Given the description of an element on the screen output the (x, y) to click on. 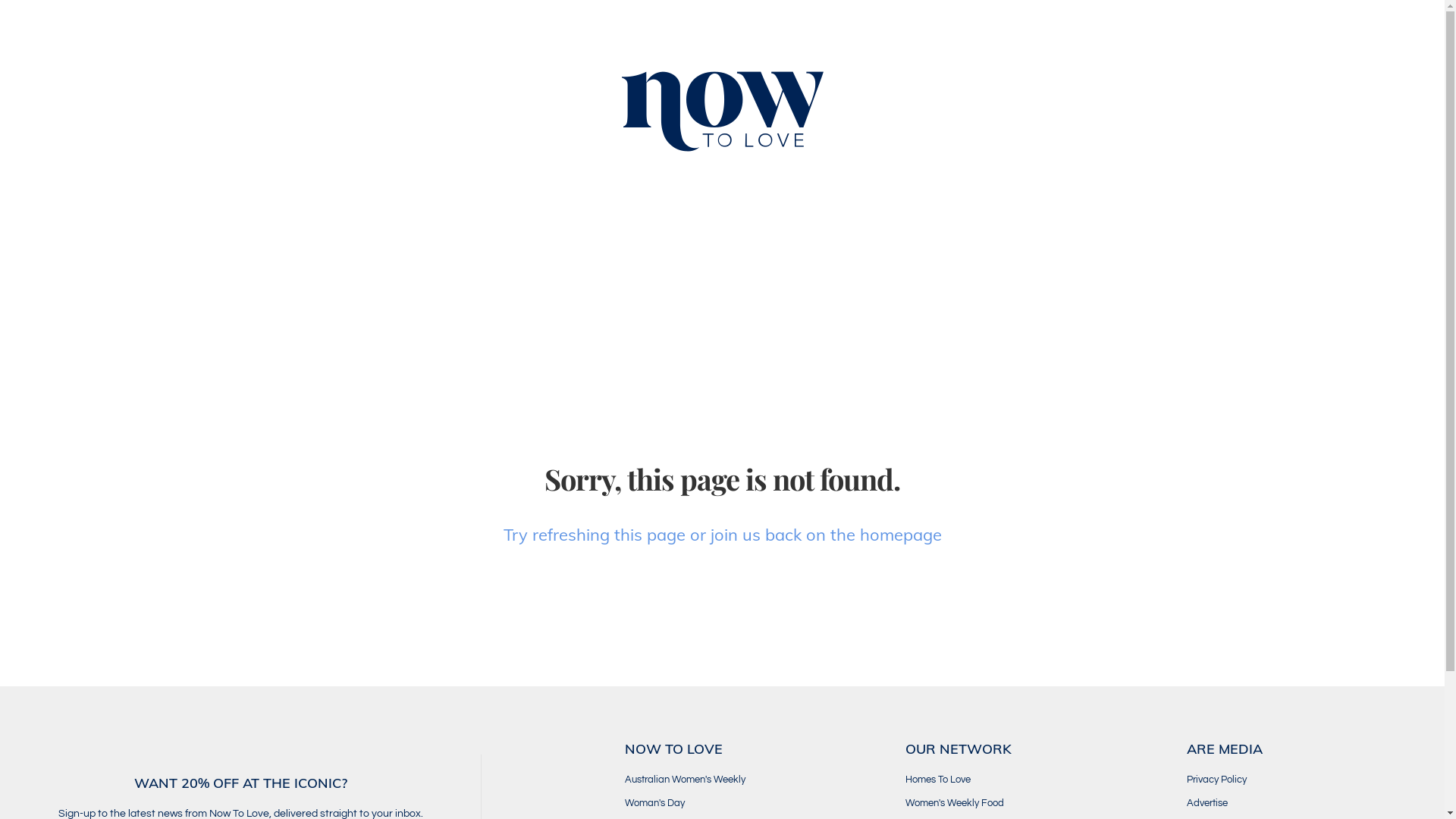
Woman's Day Element type: text (741, 803)
Advertise Element type: text (1303, 803)
Australian Women's Weekly Element type: text (741, 779)
Privacy Policy Element type: text (1303, 779)
Try refreshing this page or join us back on the homepage Element type: text (722, 534)
Homes To Love Element type: text (1022, 779)
Women's Weekly Food Element type: text (1022, 803)
